Given the description of an element on the screen output the (x, y) to click on. 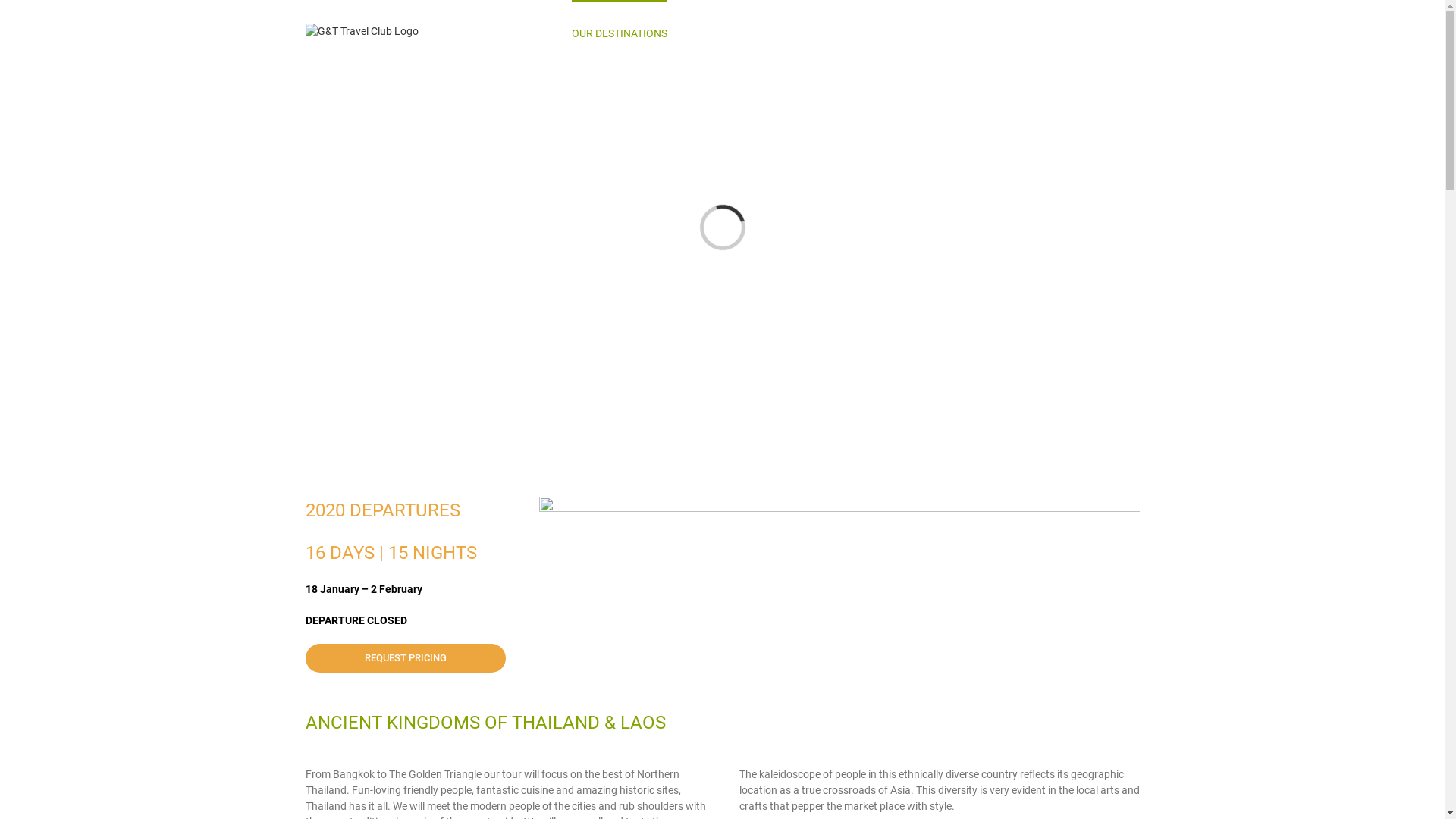
THE G&T COMMUNITY Element type: text (896, 31)
THE G&T CLUB Element type: text (789, 31)
VIDEO DIARY Element type: text (1000, 31)
REQUEST PRICING Element type: text (404, 657)
CONTACT G&T Element type: text (1085, 31)
ONTRACK Element type: text (709, 31)
HOME Element type: text (536, 31)
vietneianne-1000x300px Element type: hover (838, 586)
OUR DESTINATIONS Element type: text (619, 31)
